Given the description of an element on the screen output the (x, y) to click on. 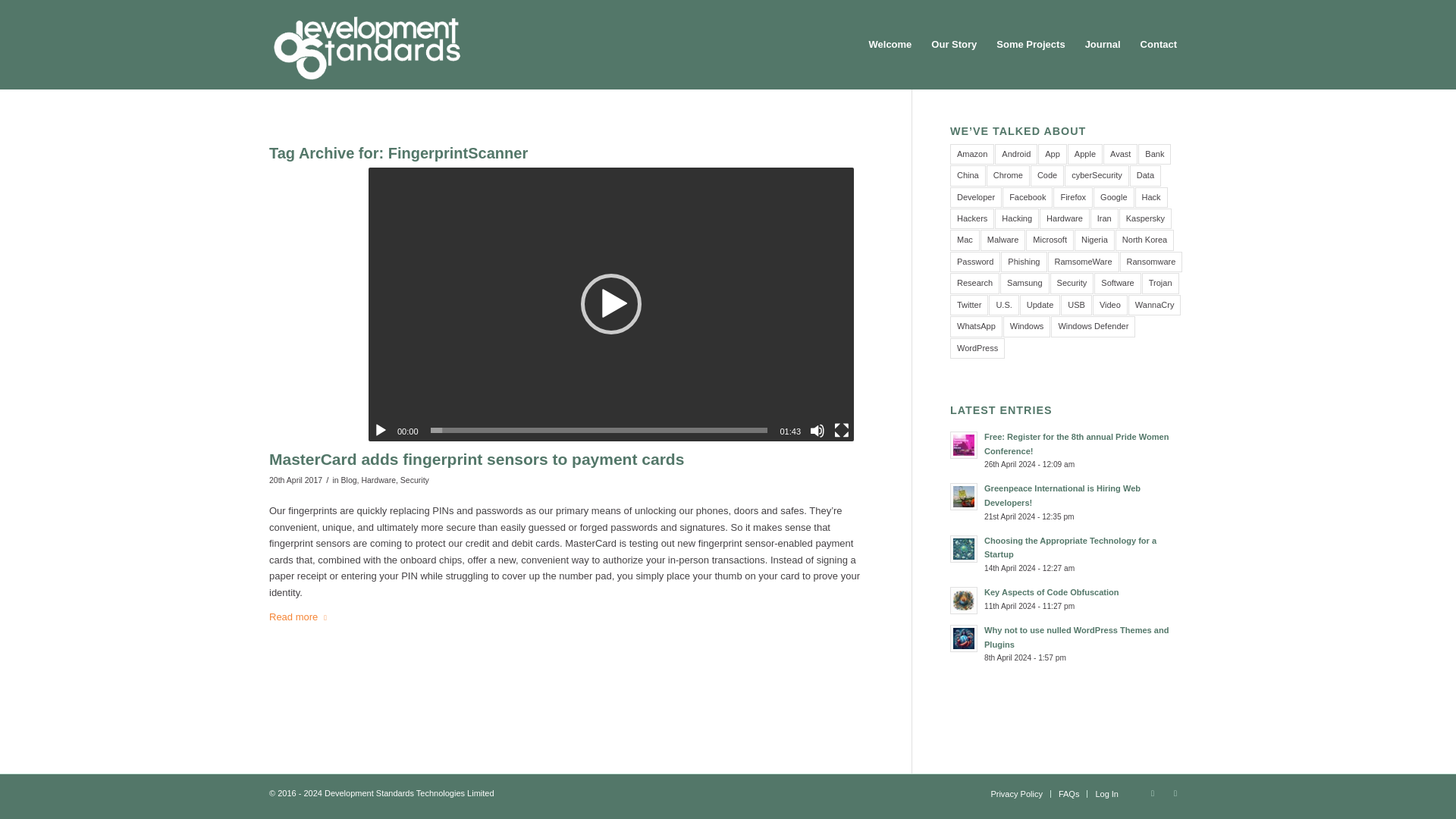
Google (1113, 197)
Read: Choosing the Appropriate Technology for a Startup (963, 548)
Read: Key Aspects of Code Obfuscation (1051, 592)
Malware (1002, 240)
Security (414, 479)
Read: Greenpeace International is Hiring Web Developers! (1062, 495)
Read: Greenpeace International is Hiring Web Developers! (963, 496)
Mac (964, 240)
App (1052, 154)
Code (1047, 175)
Iran (1104, 218)
Developer (975, 197)
Hack (1151, 197)
Amazon (972, 154)
